Given the description of an element on the screen output the (x, y) to click on. 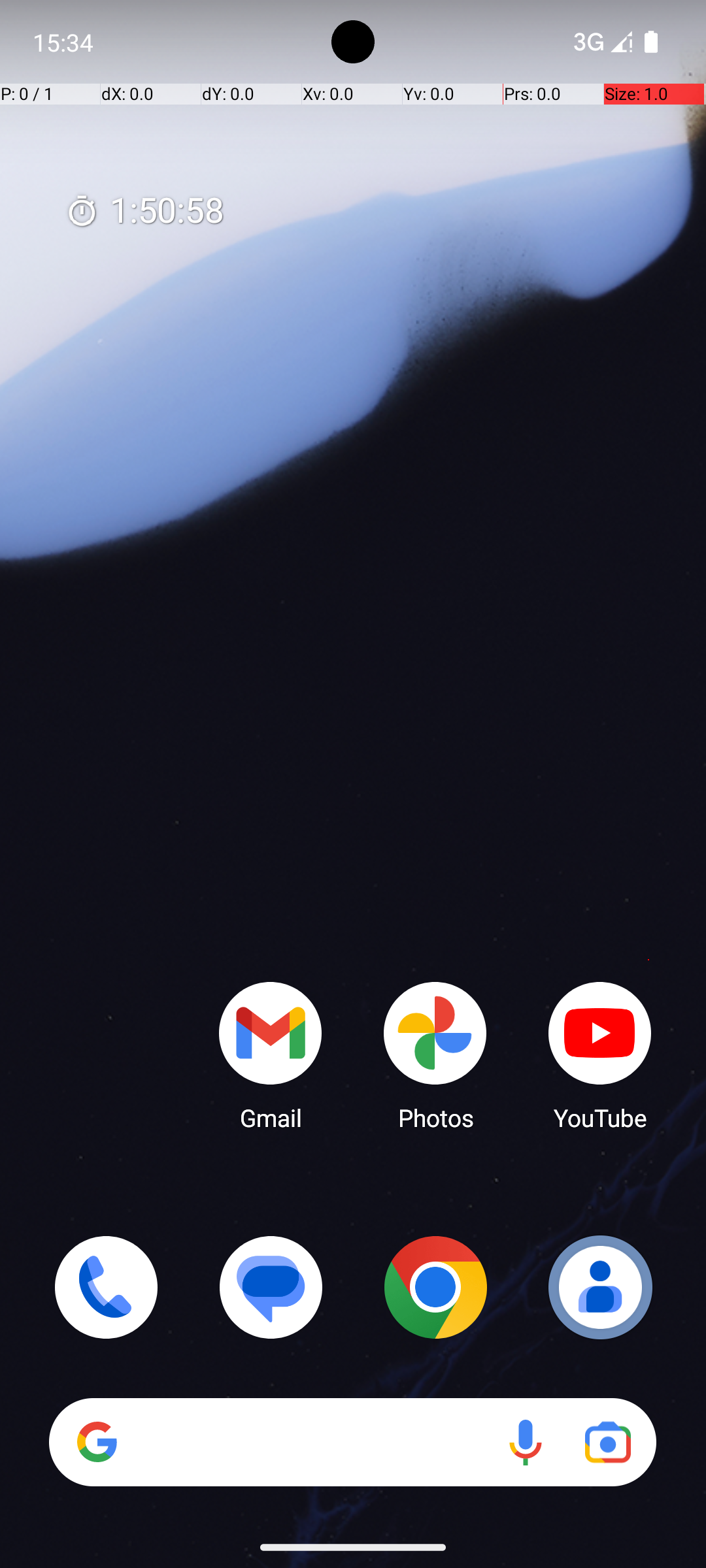
1:50:58 Element type: android.widget.TextView (144, 210)
